Given the description of an element on the screen output the (x, y) to click on. 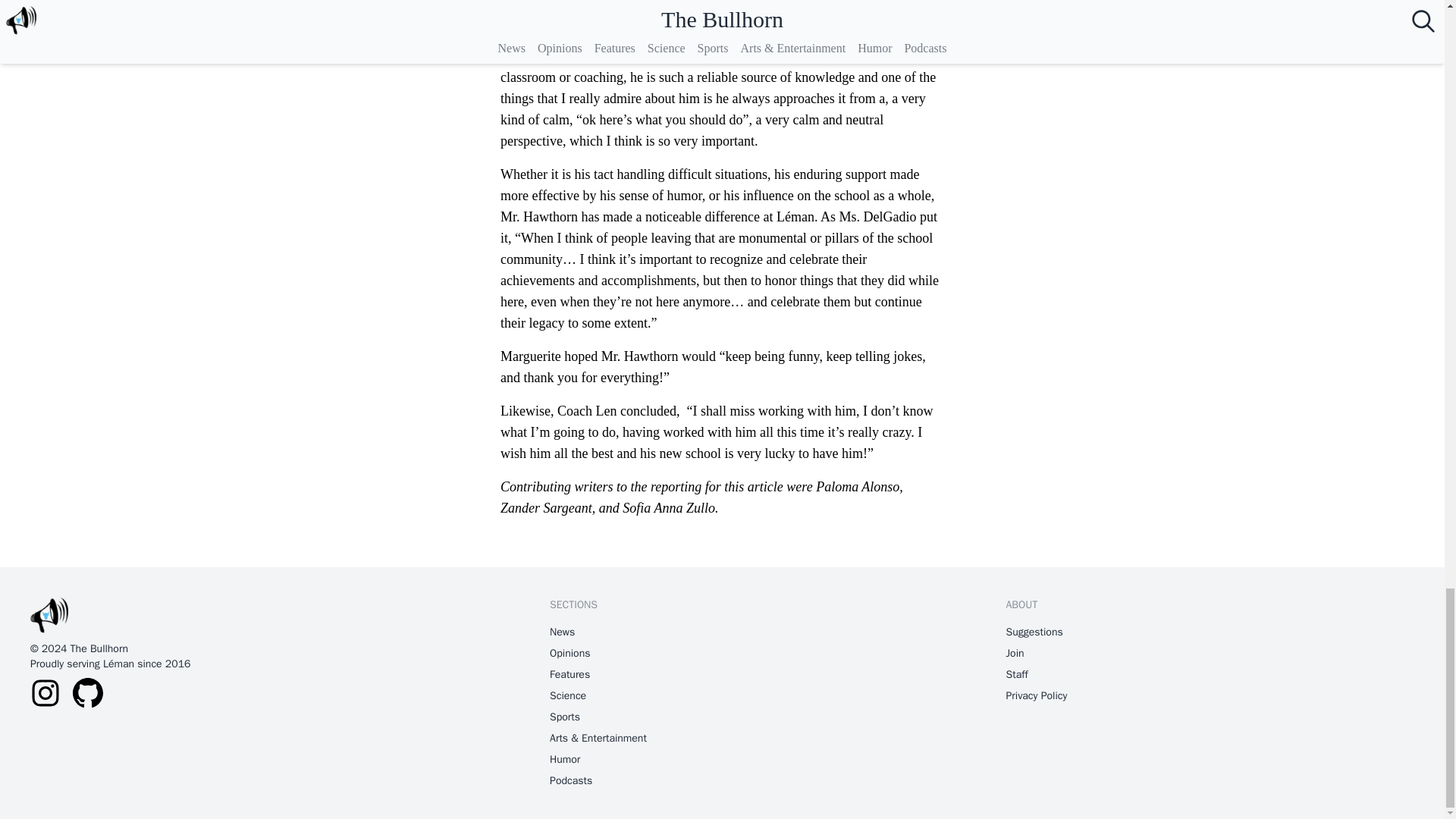
Features (569, 674)
Suggestions (1034, 631)
News (562, 631)
Privacy Policy (1036, 695)
Join (1015, 653)
Science (568, 695)
Podcasts (571, 780)
Opinions (569, 653)
Staff (1016, 674)
Sports (564, 717)
